Given the description of an element on the screen output the (x, y) to click on. 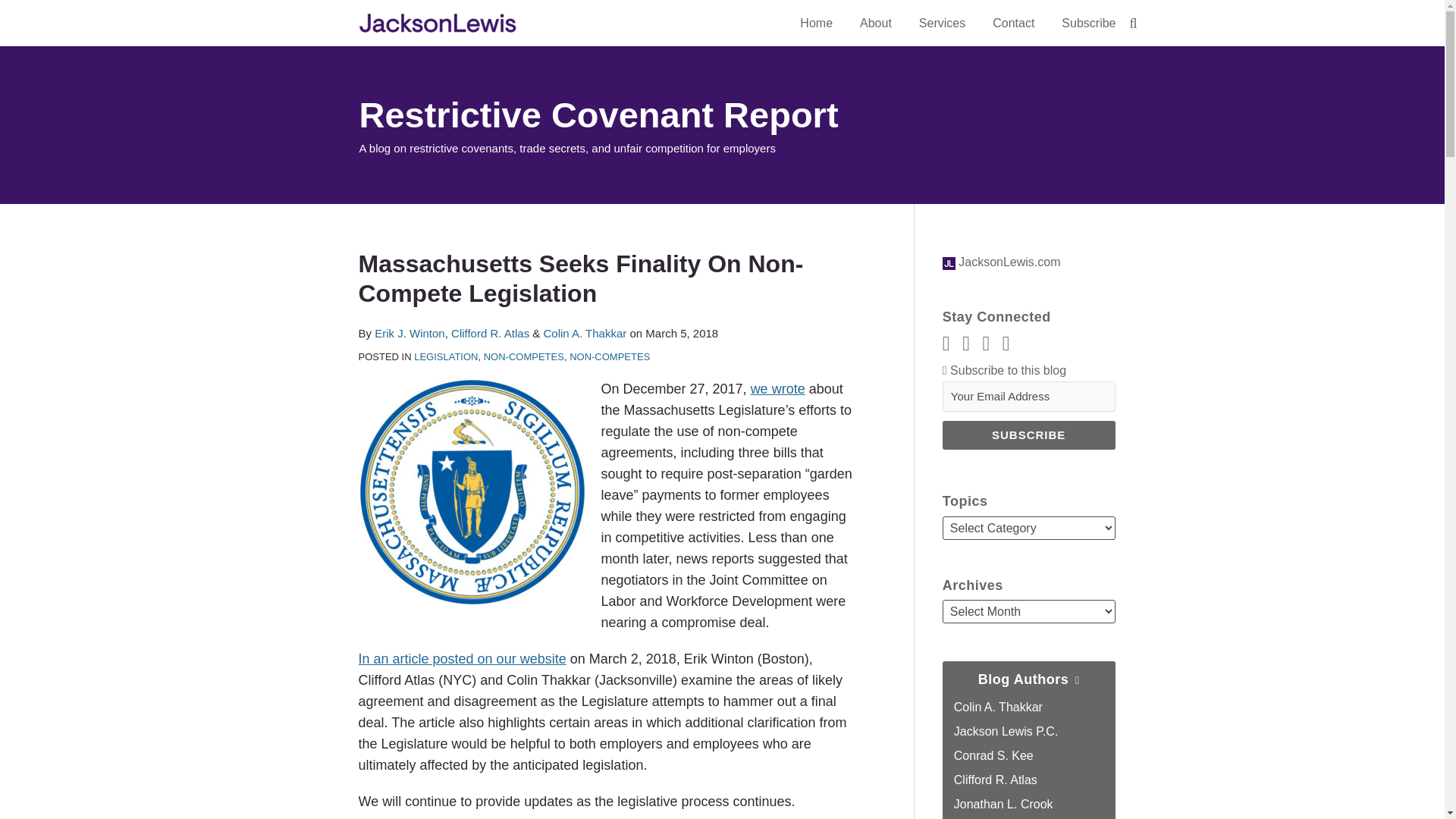
Home (815, 23)
In an article posted on our website (462, 658)
LEGISLATION (445, 356)
About (875, 23)
Clifford R. Atlas (490, 332)
NON-COMPETES (609, 356)
Contact (1012, 23)
NON-COMPETES (523, 356)
Subscribe (1028, 434)
Services (941, 23)
